Given the description of an element on the screen output the (x, y) to click on. 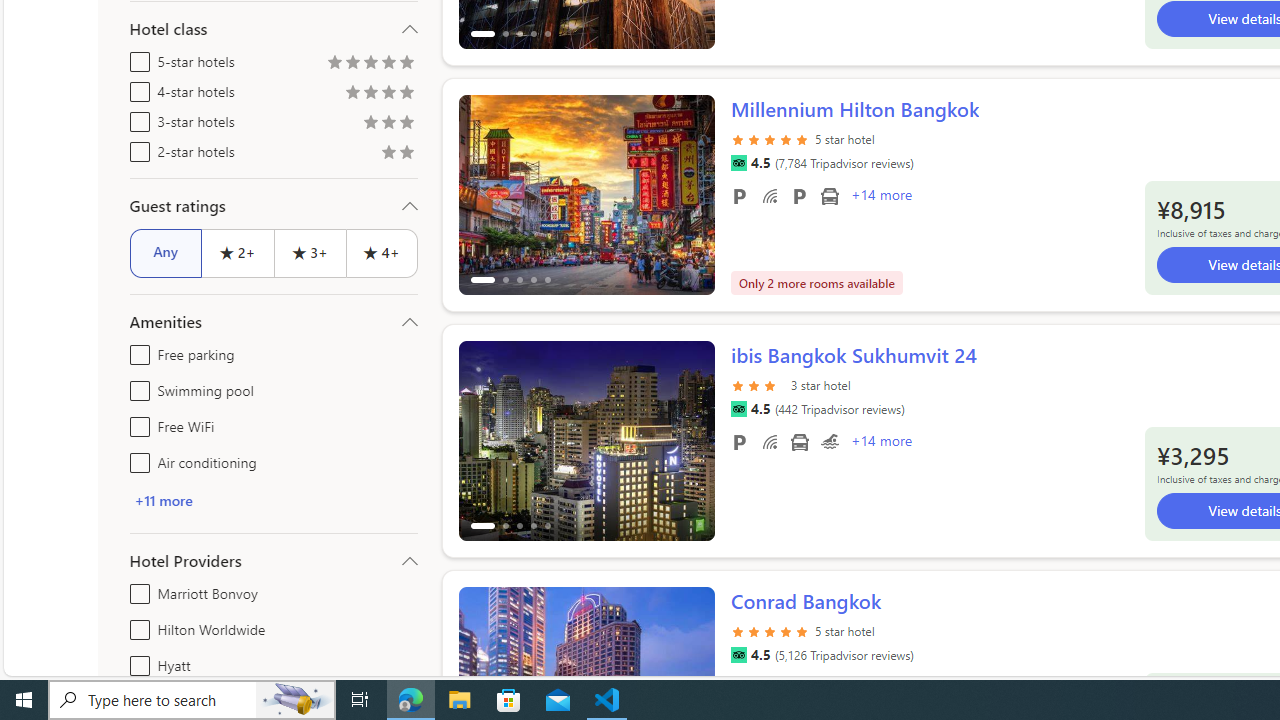
Swimming pool (136, 386)
4-star hotels (136, 88)
Airport transportation (798, 441)
Amenities (273, 321)
Air conditioning (136, 458)
Marriott Bonvoy (136, 589)
Free parking (738, 441)
5-star hotels (136, 57)
star rating (770, 642)
Hilton Worldwide (136, 625)
+11 more (273, 500)
Swimming pool (829, 441)
Tripadvisor (738, 655)
2-star hotels (136, 147)
Free parking (136, 350)
